Given the description of an element on the screen output the (x, y) to click on. 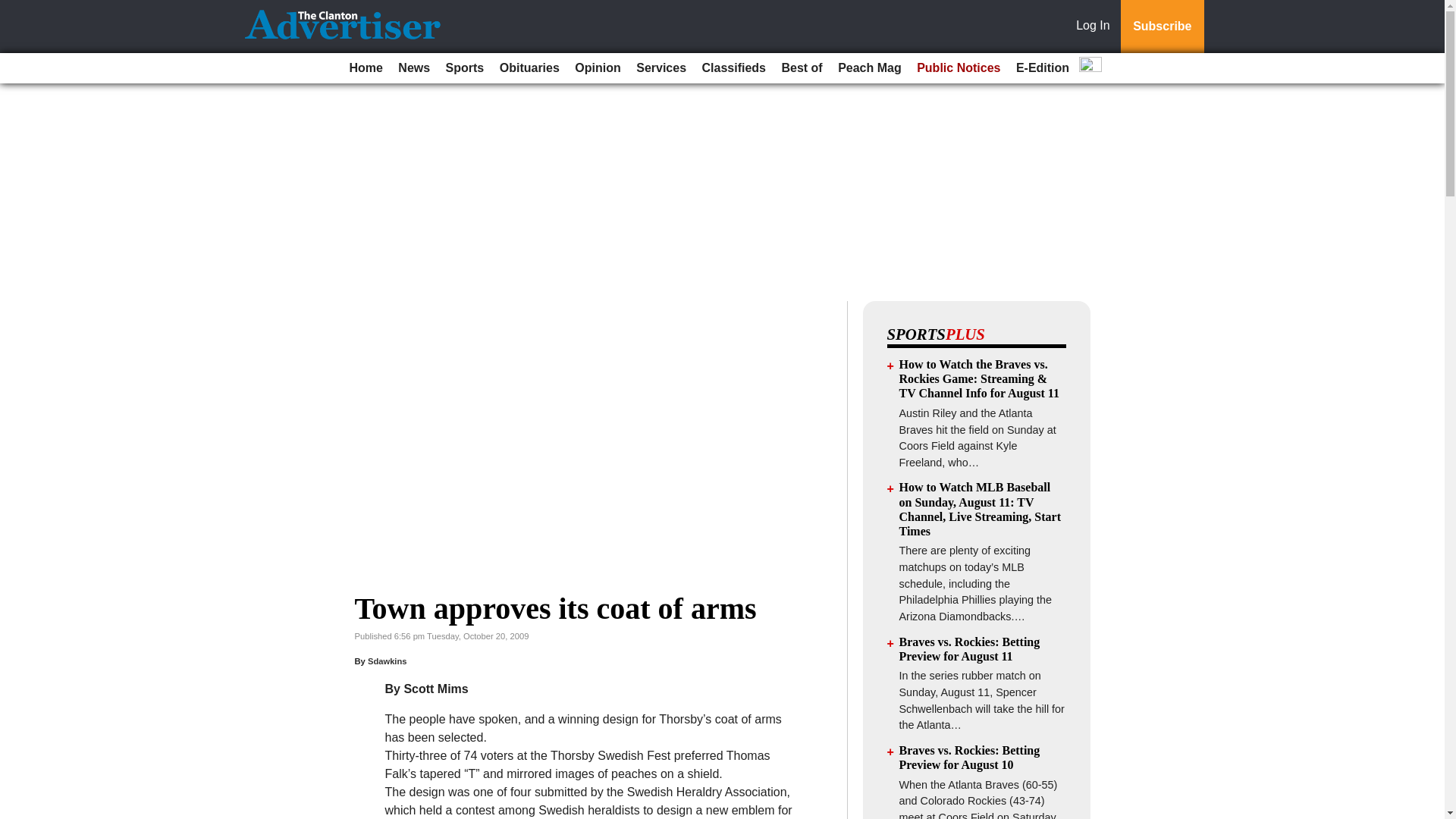
News (413, 68)
Braves vs. Rockies: Betting Preview for August 11 (970, 648)
Obituaries (529, 68)
Services (661, 68)
Home (365, 68)
Public Notices (958, 68)
Opinion (597, 68)
Sdawkins (387, 660)
Go (13, 9)
